Given the description of an element on the screen output the (x, y) to click on. 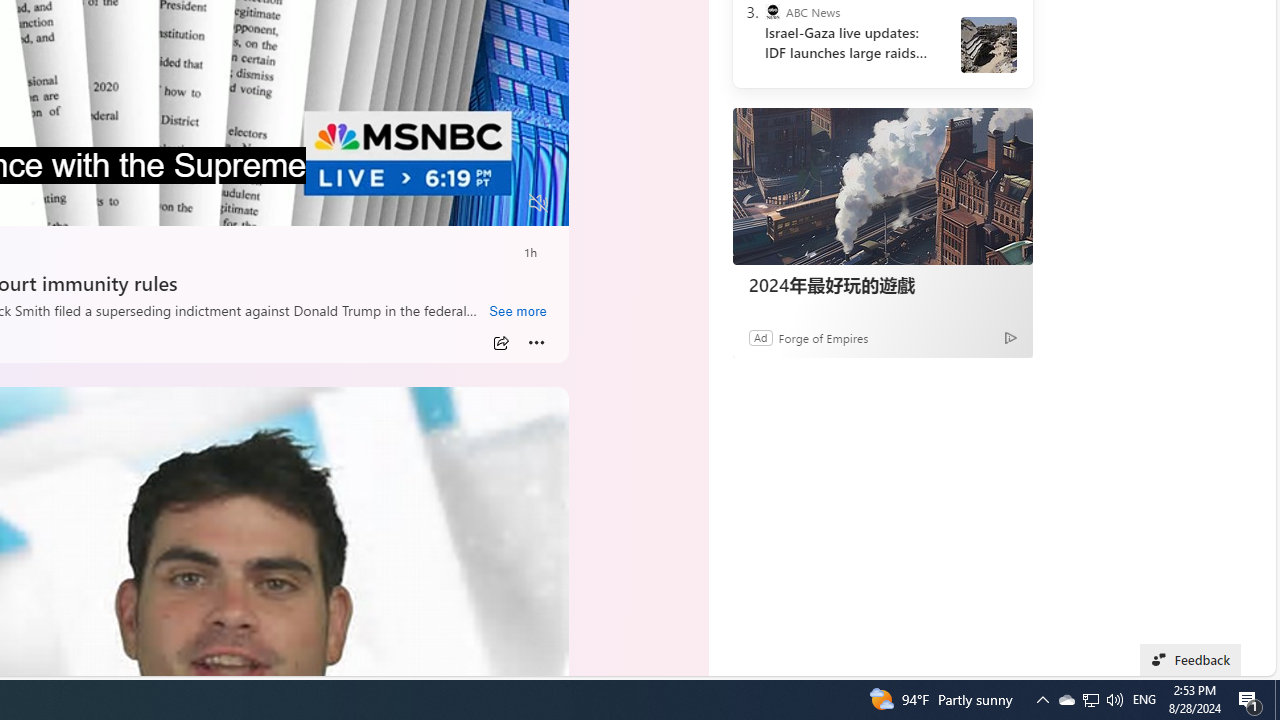
Unmute (538, 203)
Forge of Empires (823, 337)
Fullscreen (500, 203)
Quality Settings (420, 203)
Captions (461, 203)
ABC News (772, 12)
Share (501, 343)
